Given the description of an element on the screen output the (x, y) to click on. 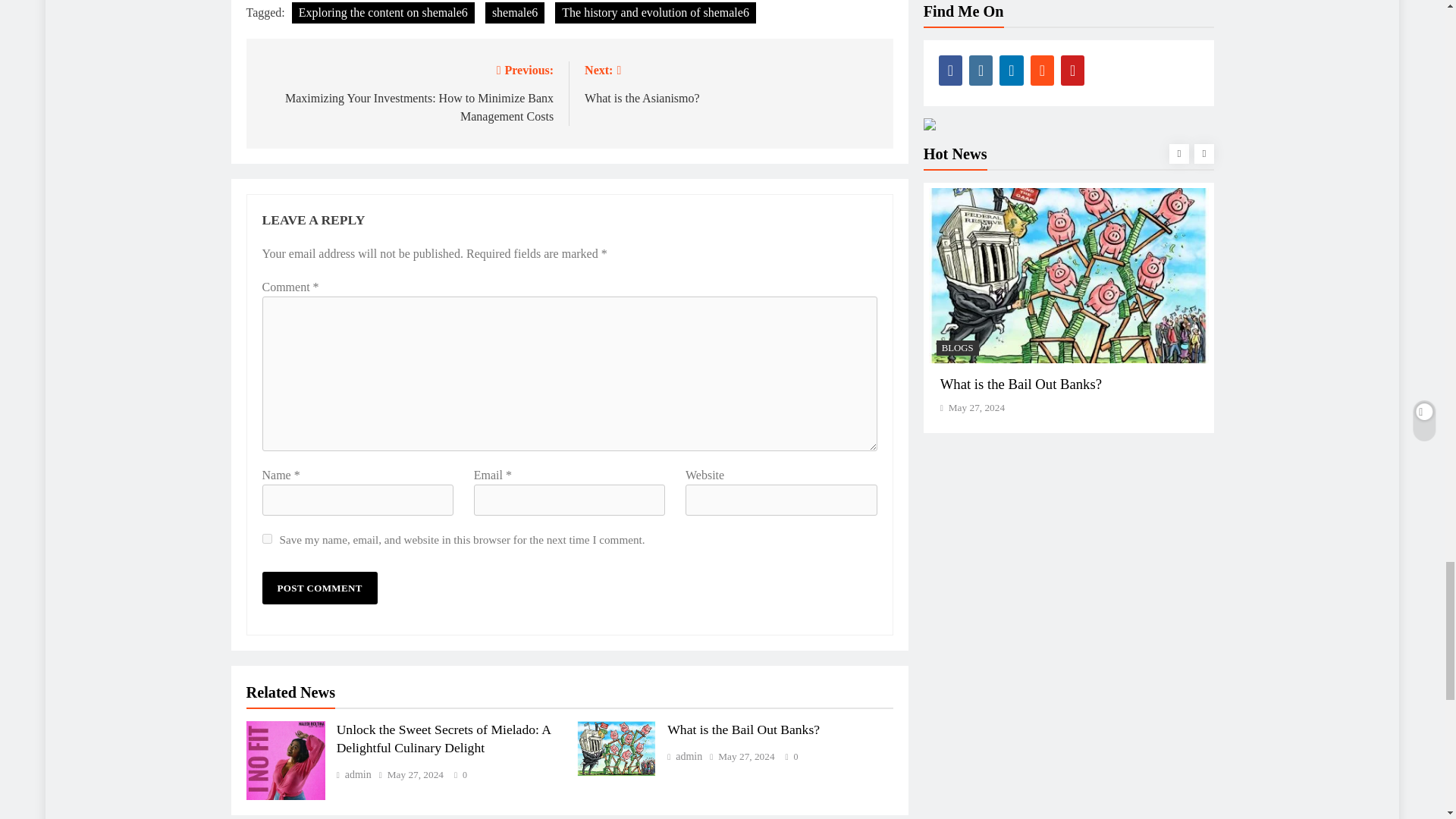
Post Comment (319, 587)
yes (267, 538)
